Given the description of an element on the screen output the (x, y) to click on. 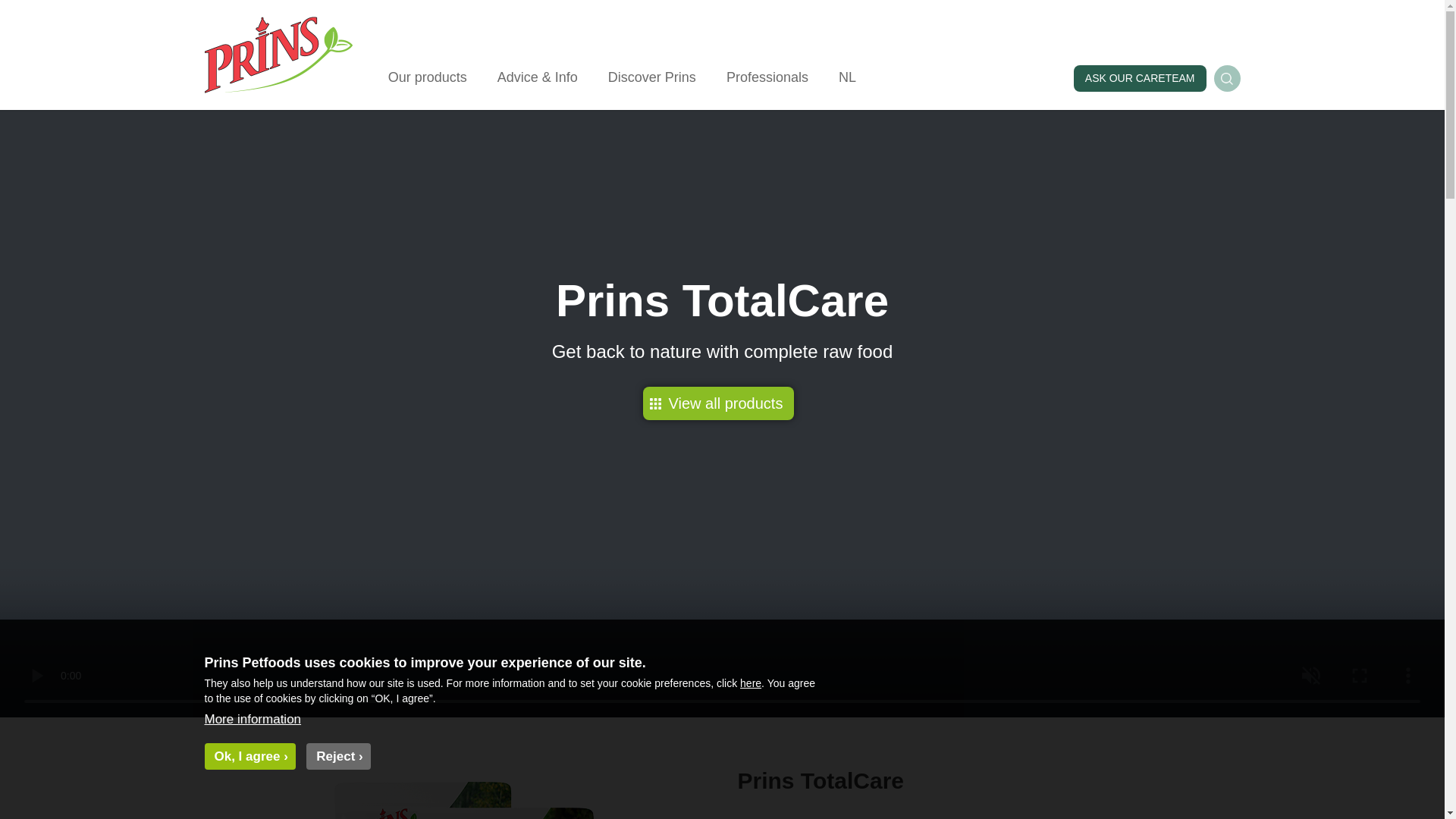
Opnieuw beginnen (43, 7)
Home (278, 93)
Professionals (767, 77)
Search (1226, 78)
Our products (427, 77)
Apply (13, 7)
ASK OUR CARETEAM (1140, 78)
View all products (718, 403)
Discover Prins (651, 77)
Search (1226, 78)
